Given the description of an element on the screen output the (x, y) to click on. 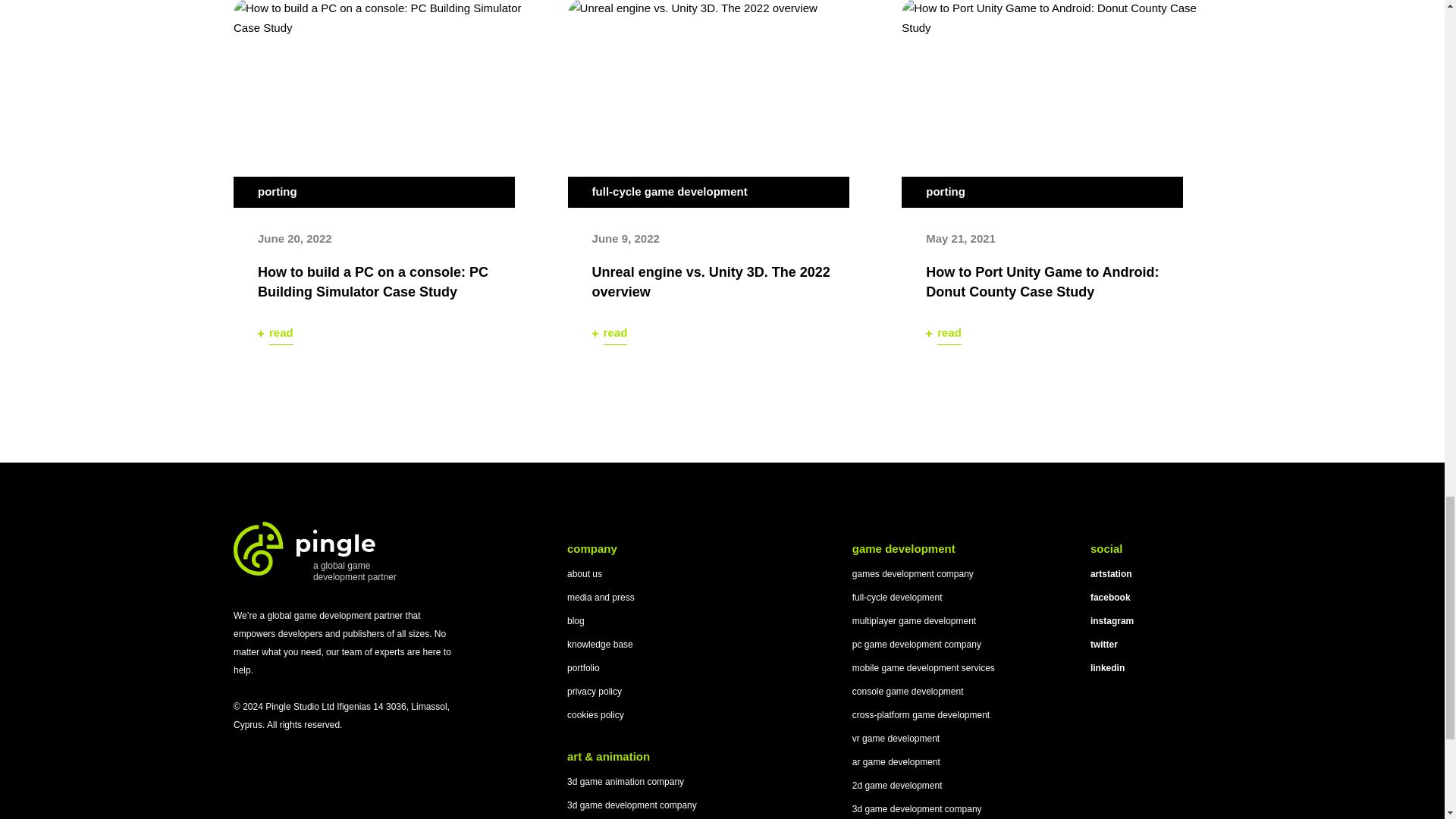
How to Port Unity Game to Android: Donut County Case Study (1056, 104)
Unreal engine vs. Unity 3D. The 2022 overview (722, 104)
